Given the description of an element on the screen output the (x, y) to click on. 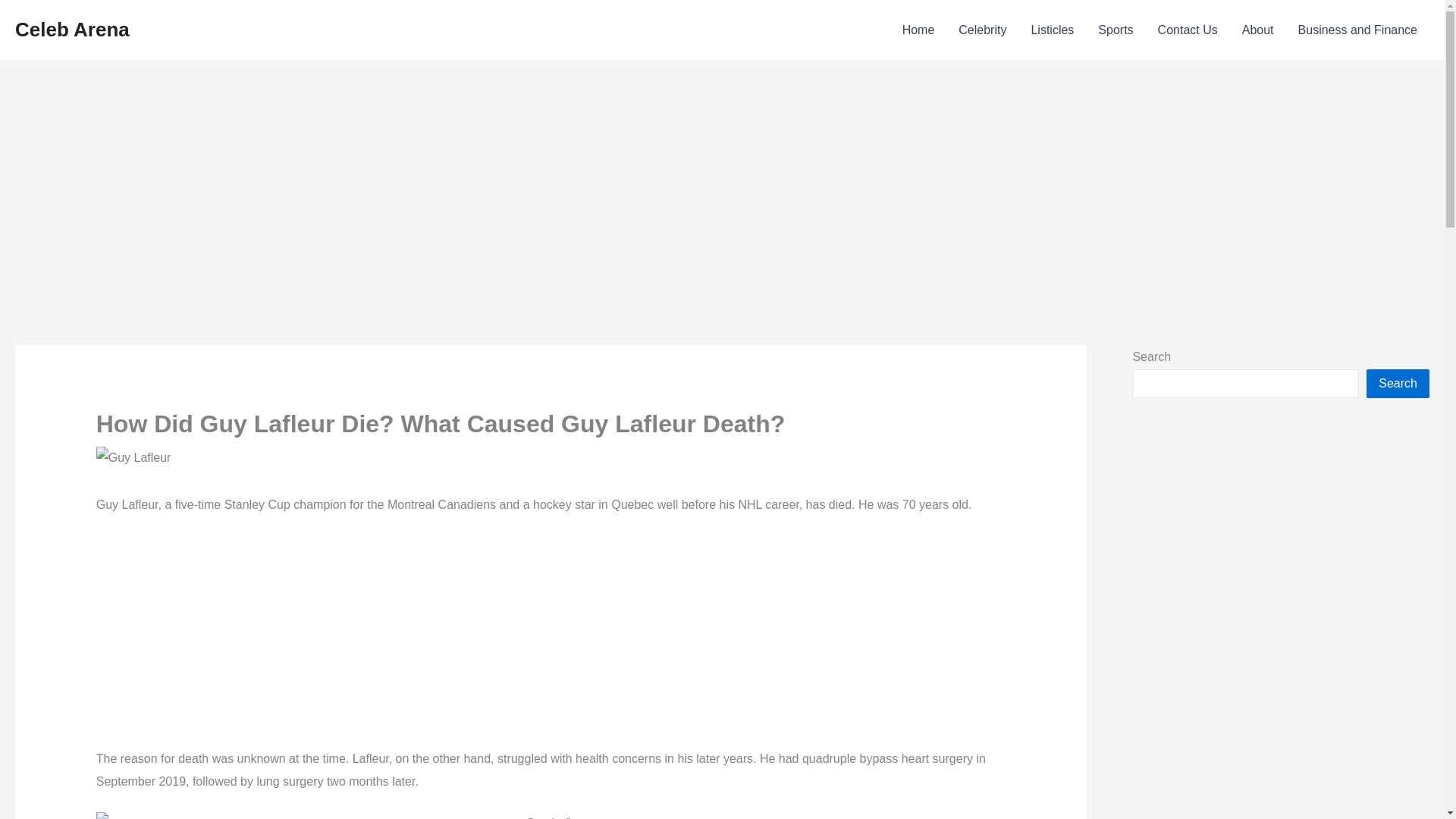
Business and Finance (1357, 30)
Advertisement (550, 641)
Celebrity (981, 30)
Celeb Arena (71, 29)
About (1257, 30)
Contact Us (1187, 30)
Listicles (1051, 30)
Sports (1115, 30)
Home (918, 30)
